Given the description of an element on the screen output the (x, y) to click on. 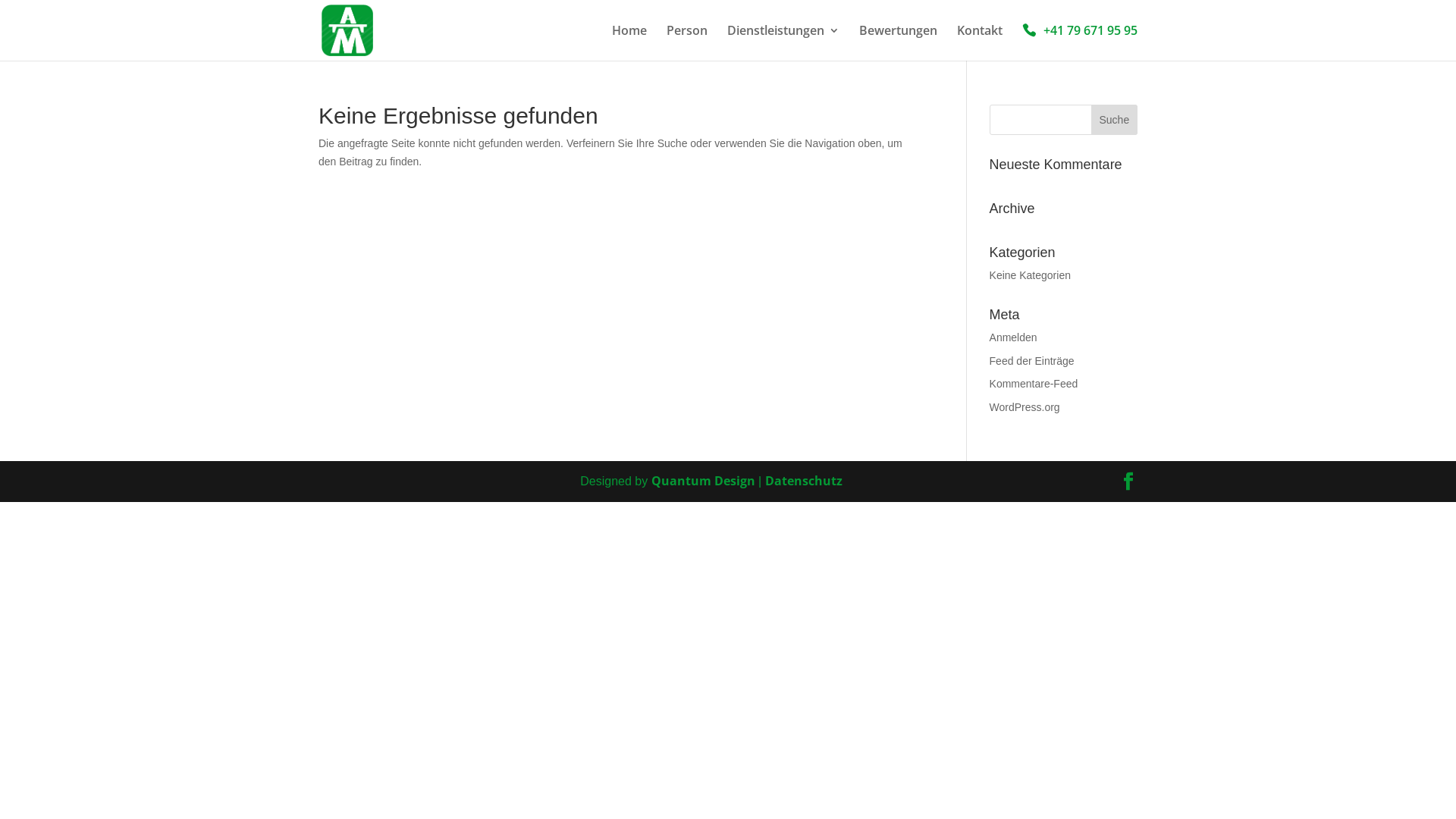
Kontakt Element type: text (979, 42)
Kommentare-Feed Element type: text (1033, 383)
Dienstleistungen Element type: text (783, 42)
Datenschutz Element type: text (803, 480)
Person Element type: text (686, 42)
Anmelden Element type: text (1013, 337)
Suche Element type: text (1114, 119)
+41 79 671 95 95 Element type: text (1079, 42)
WordPress.org Element type: text (1024, 407)
Bewertungen Element type: text (898, 42)
Quantum Design Element type: text (703, 480)
Home Element type: text (628, 42)
